Given the description of an element on the screen output the (x, y) to click on. 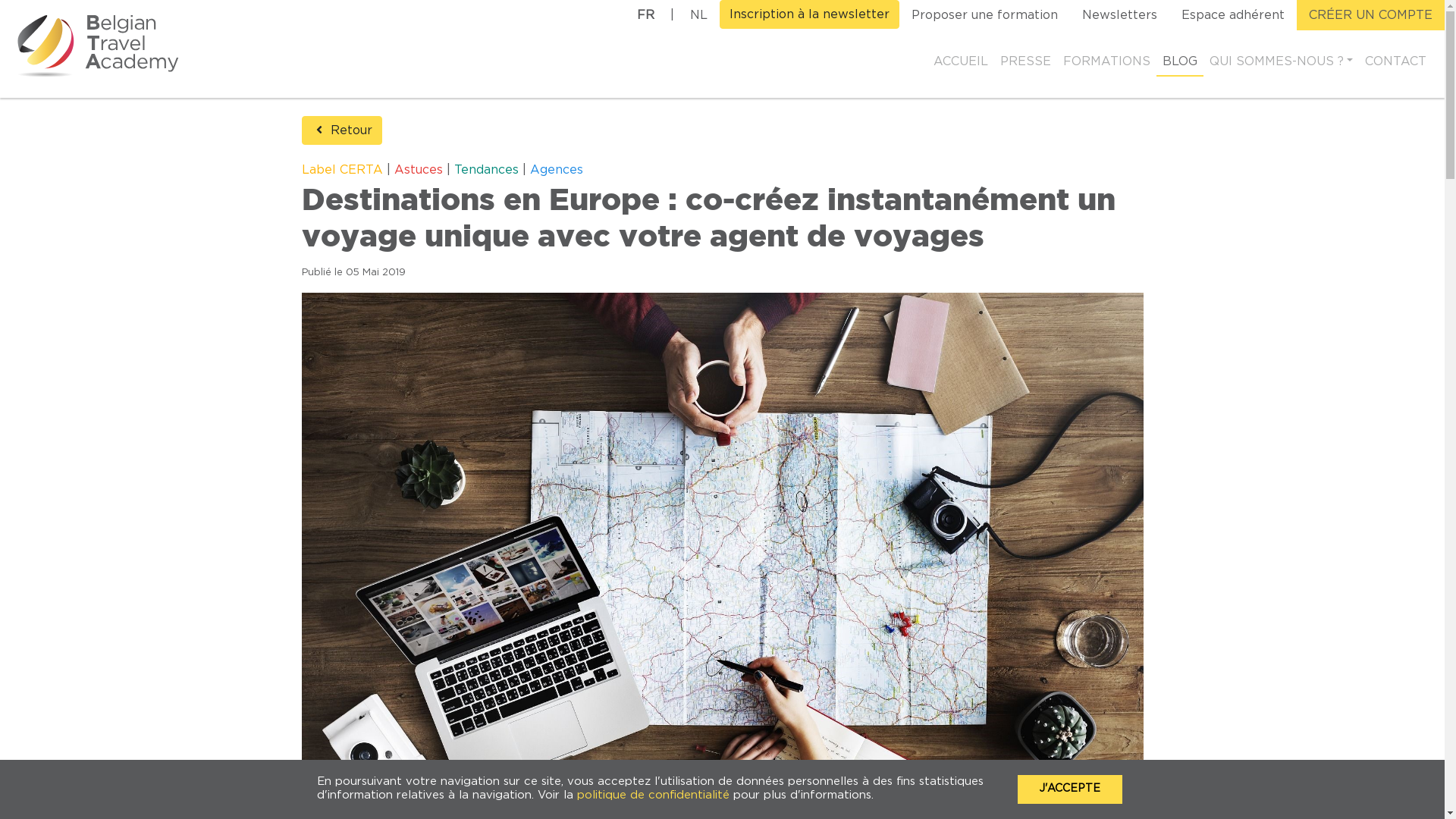
Belgian Travel Academy Element type: text (103, 44)
QUI SOMMES-NOUS ? Element type: text (1280, 60)
ACCUEIL Element type: text (960, 60)
J'ACCEPTE Element type: text (1069, 789)
FORMATIONS Element type: text (1106, 60)
CONTACT Element type: text (1395, 60)
Newsletters Element type: text (1119, 15)
BLOG Element type: text (1179, 60)
FR Element type: text (645, 15)
PRESSE Element type: text (1025, 60)
NL Element type: text (698, 15)
Proposer une formation Element type: text (984, 15)
Retour Element type: text (341, 130)
